Given the description of an element on the screen output the (x, y) to click on. 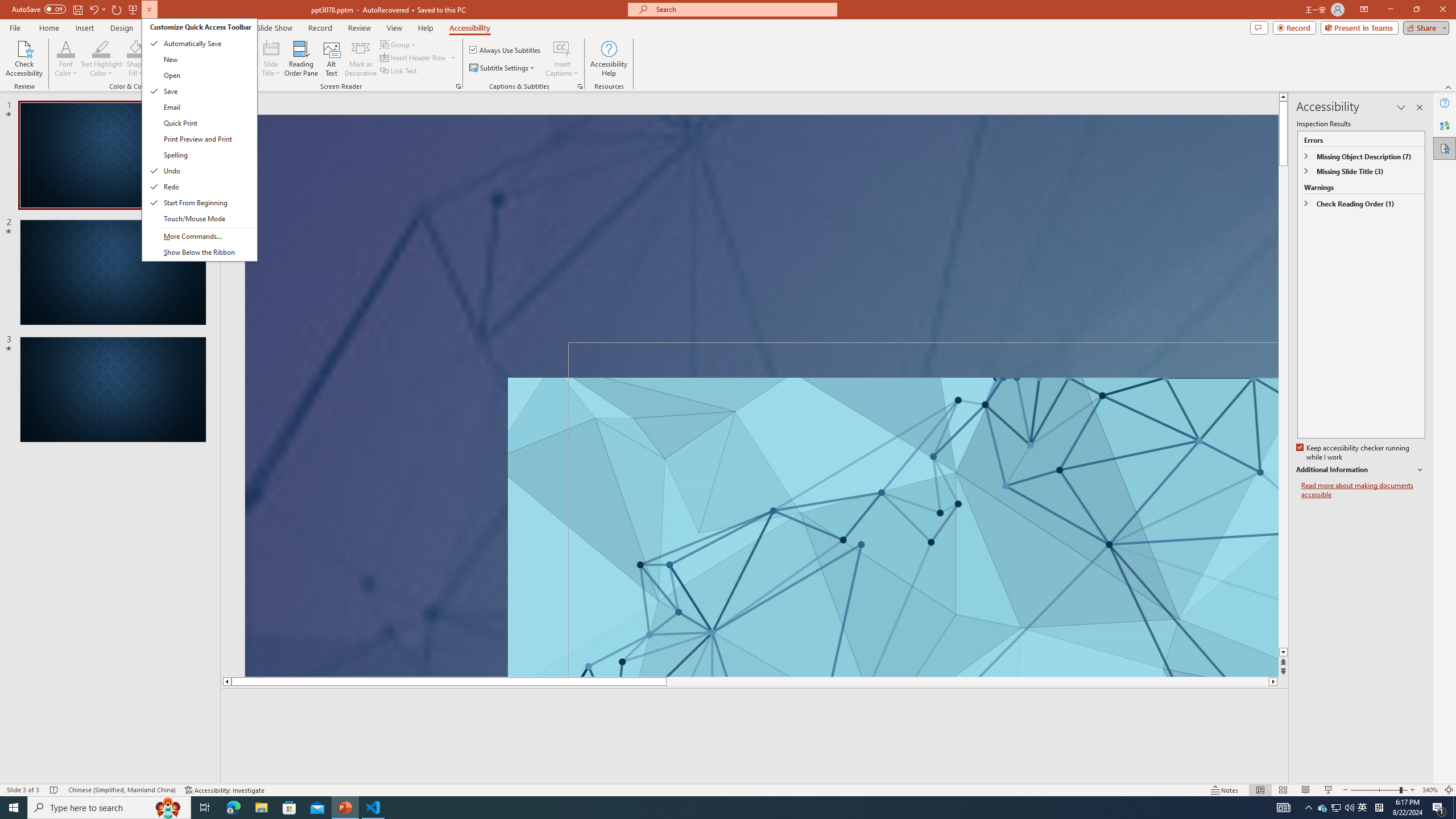
Group (398, 44)
Slide Title (271, 58)
